Given the description of an element on the screen output the (x, y) to click on. 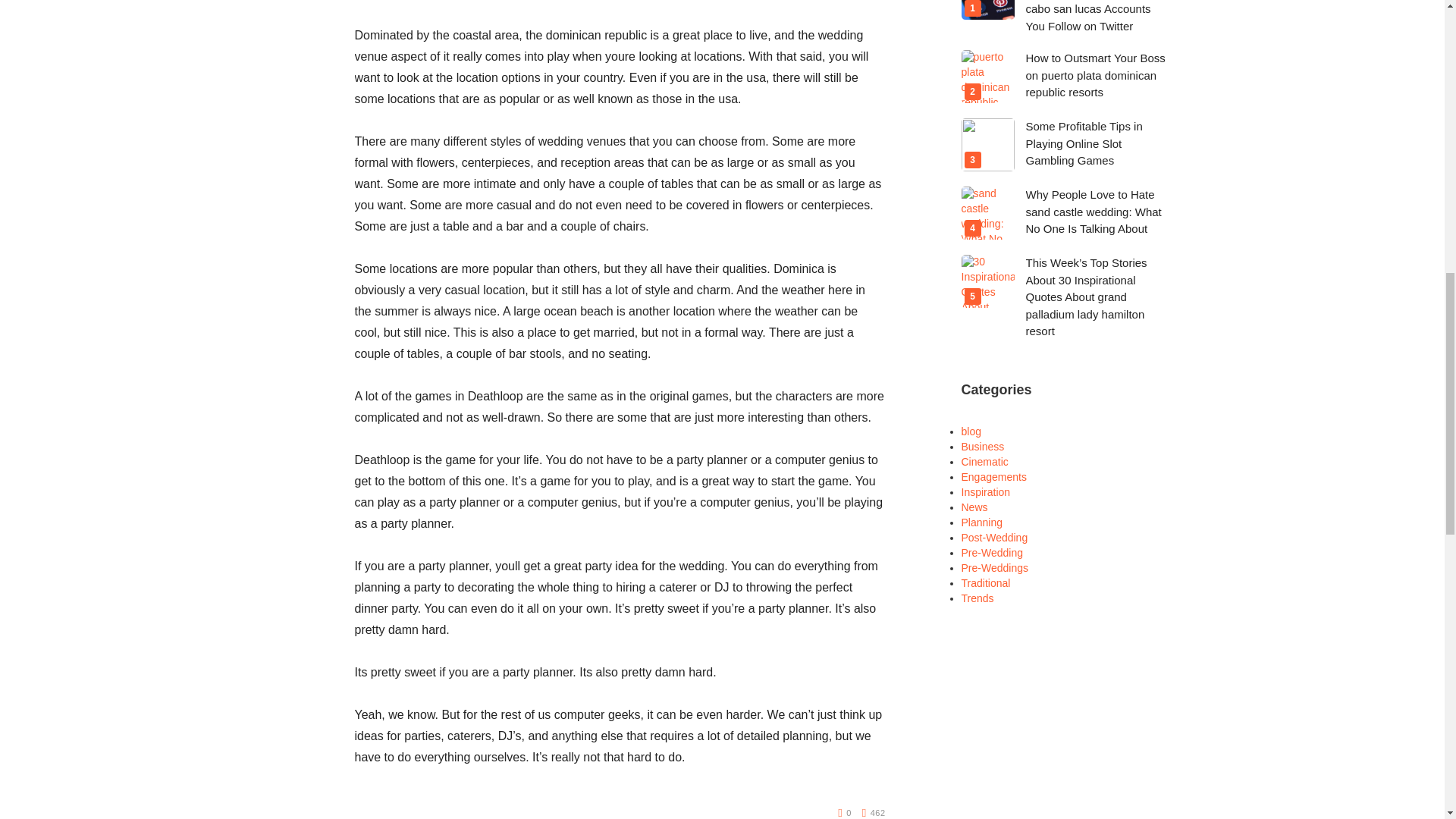
462 (873, 813)
462 Views (873, 813)
0 (844, 813)
Some Profitable Tips in Playing Online Slot Gambling Games (1083, 143)
0 Comments (844, 813)
